Given the description of an element on the screen output the (x, y) to click on. 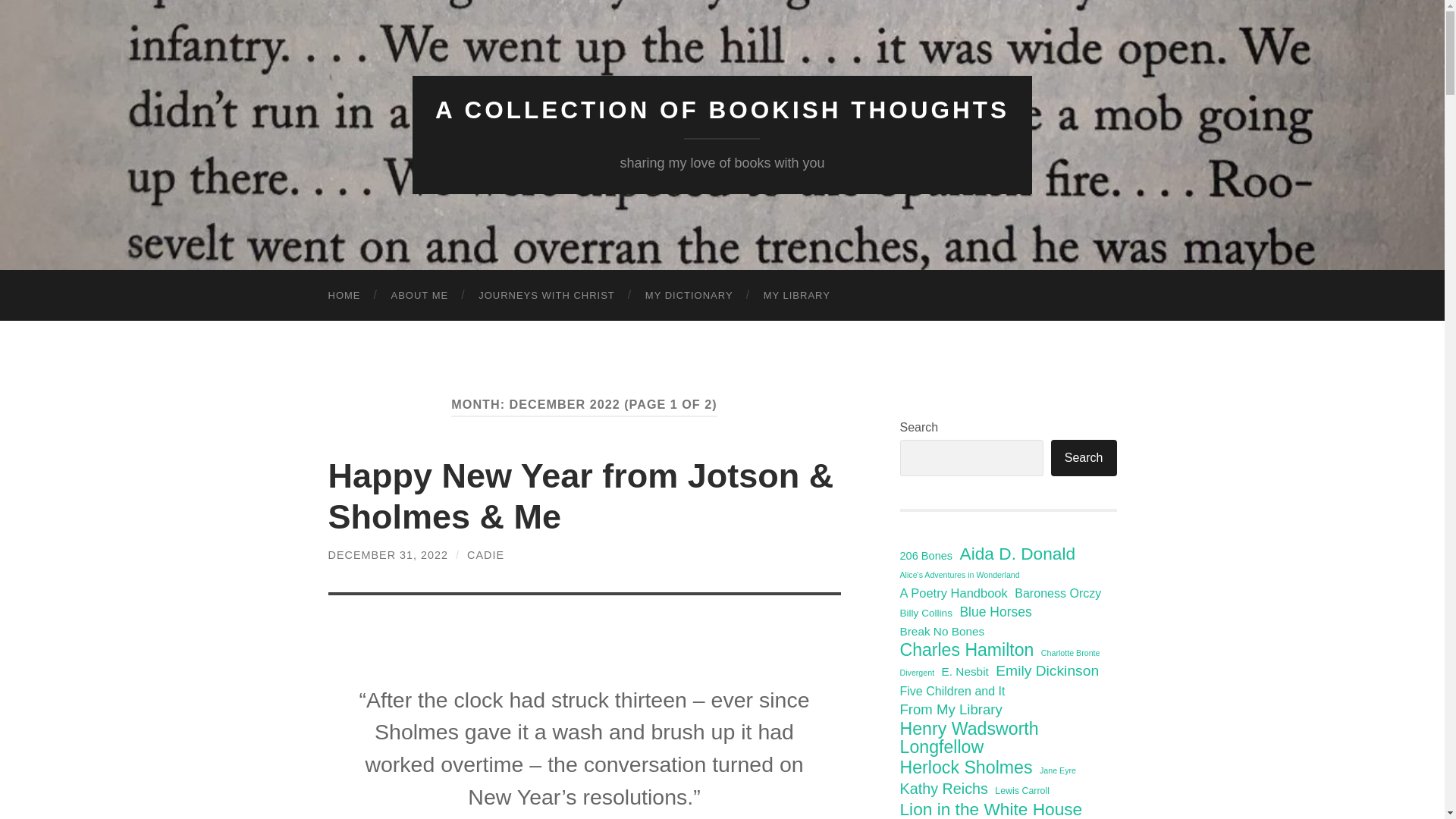
MY DICTIONARY (689, 295)
HOME (344, 295)
DECEMBER 31, 2022 (387, 554)
A COLLECTION OF BOOKISH THOUGHTS (722, 109)
MY LIBRARY (796, 295)
CADIE (485, 554)
ABOUT ME (419, 295)
Posts by Cadie (485, 554)
JOURNEYS WITH CHRIST (546, 295)
